Given the description of an element on the screen output the (x, y) to click on. 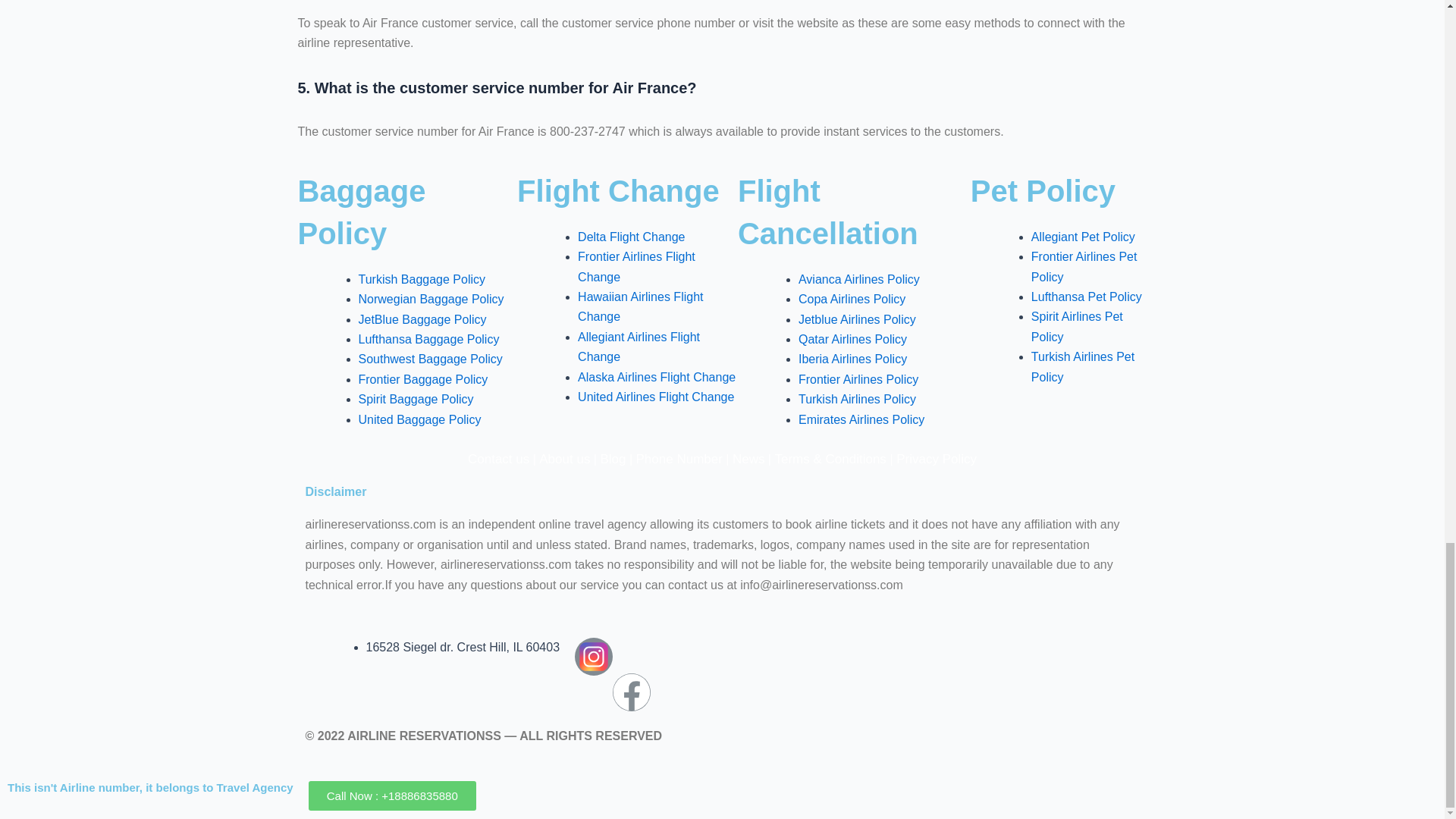
Hawaiian Airlines Flight Change (640, 306)
Norwegian Baggage Policy (430, 298)
Lufthansa Baggage Policy (428, 338)
Avianca Airlines Policy (858, 278)
Delta Flight Change (631, 236)
Copa Airlines Policy (851, 298)
Qatar Airlines Policy (852, 338)
United Baggage Policy (419, 419)
United Airlines Flight Change (655, 396)
Turkish Baggage Policy (421, 278)
